Given the description of an element on the screen output the (x, y) to click on. 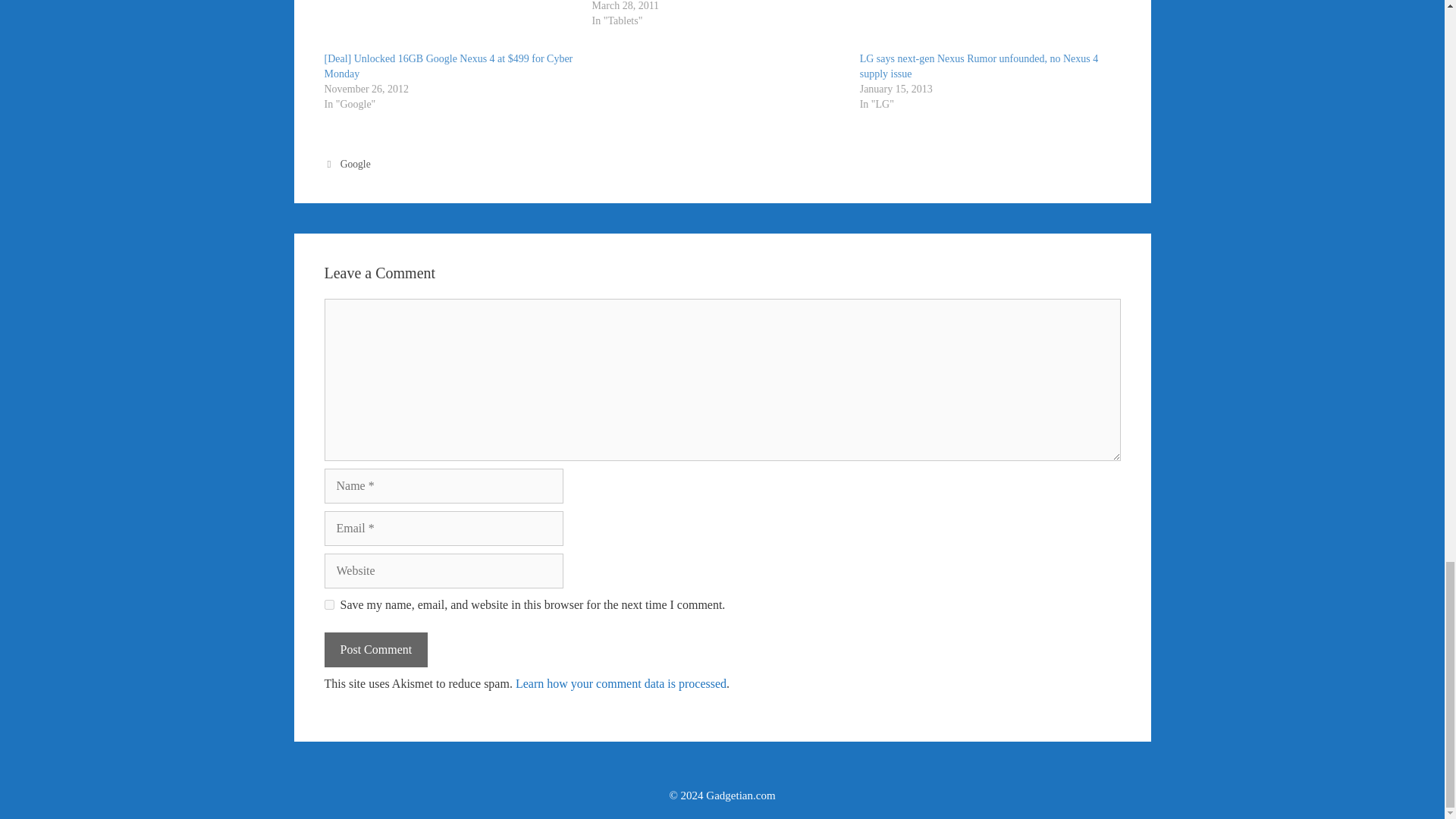
Google (355, 163)
yes (329, 604)
Learn how your comment data is processed (620, 683)
Post Comment (376, 649)
Post Comment (376, 649)
